Given the description of an element on the screen output the (x, y) to click on. 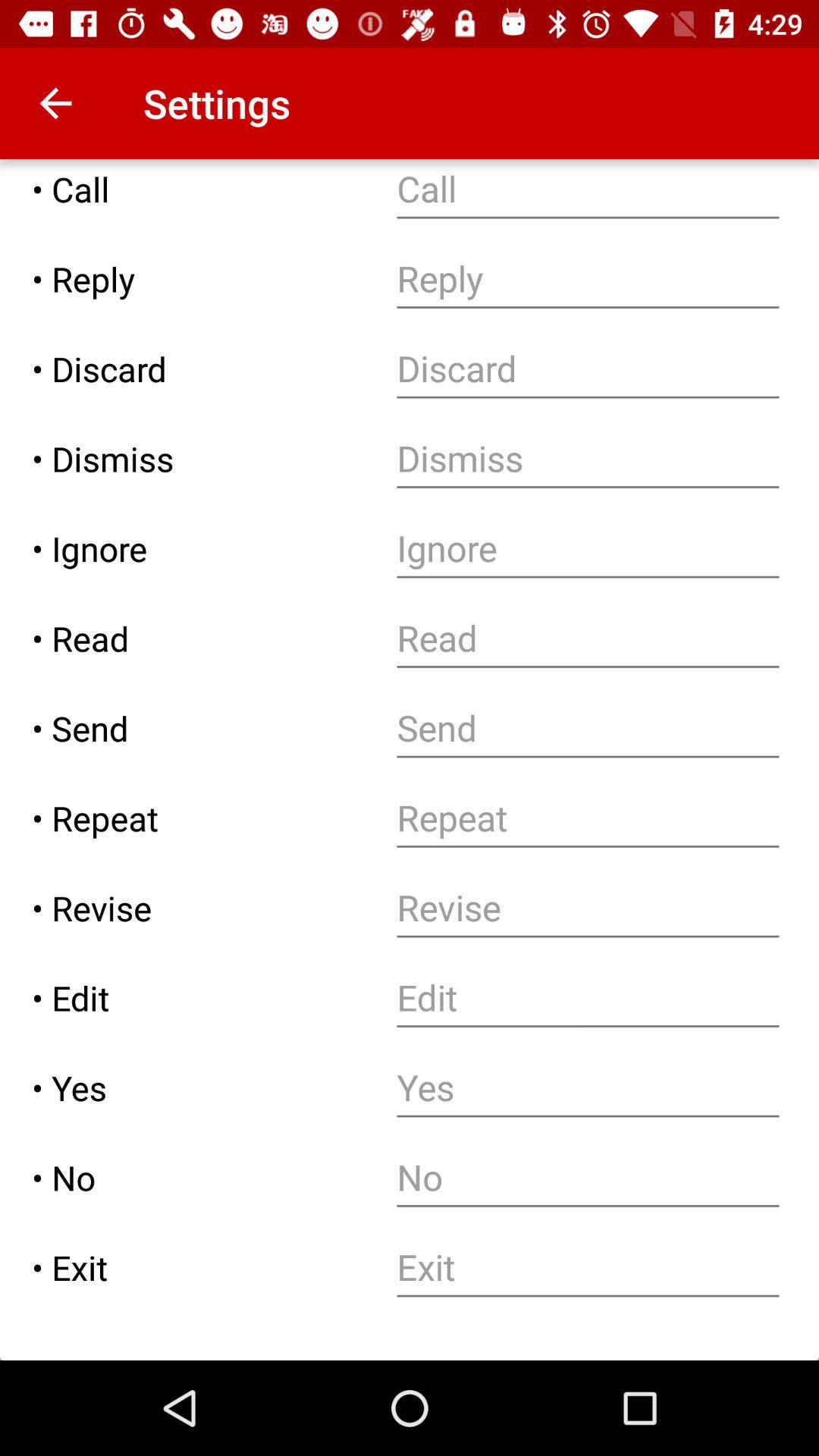
edit text box (588, 998)
